Given the description of an element on the screen output the (x, y) to click on. 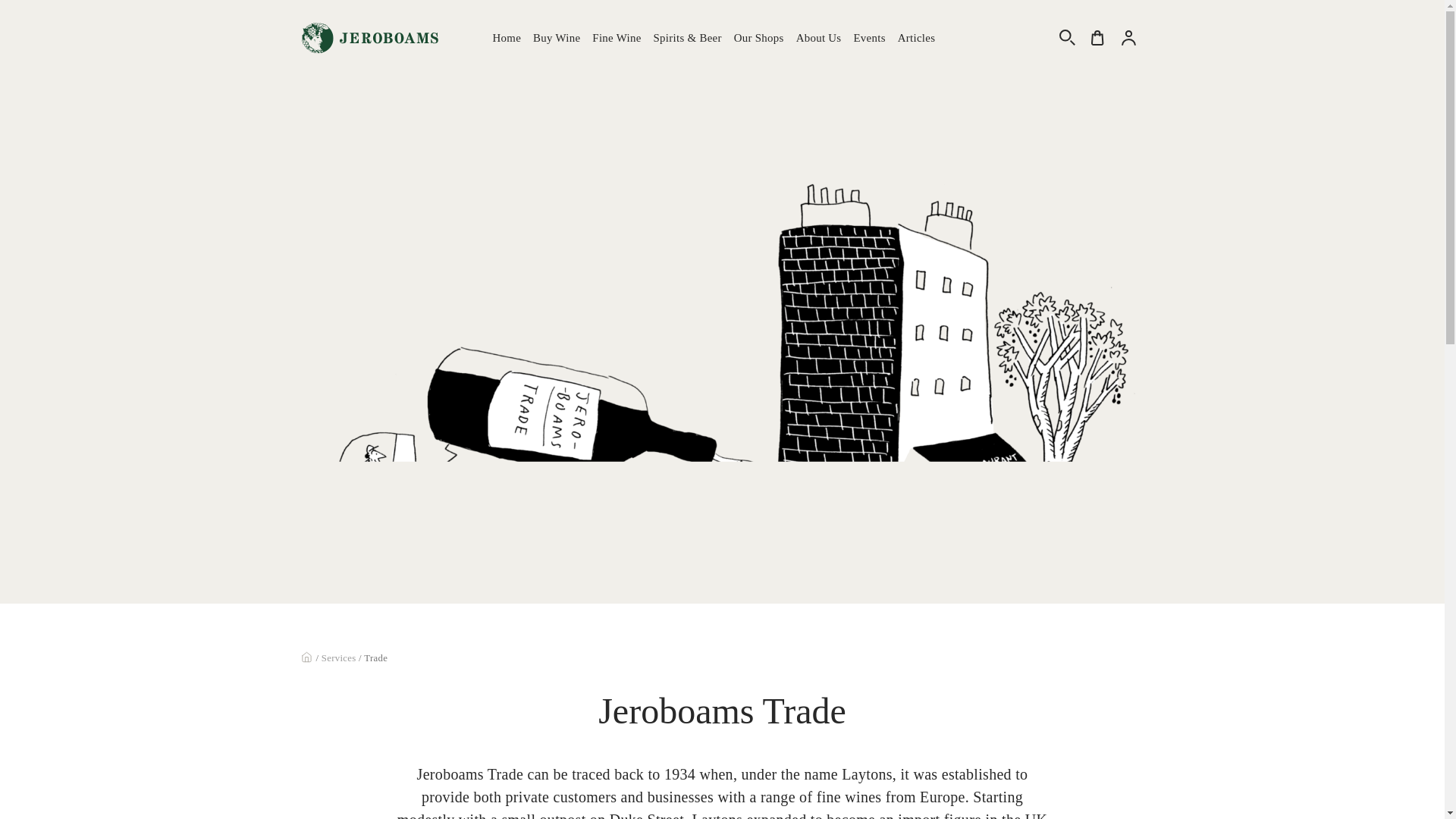
Buy Wine (556, 37)
Home (506, 37)
Buy Wine (556, 37)
Home (506, 37)
